Given the description of an element on the screen output the (x, y) to click on. 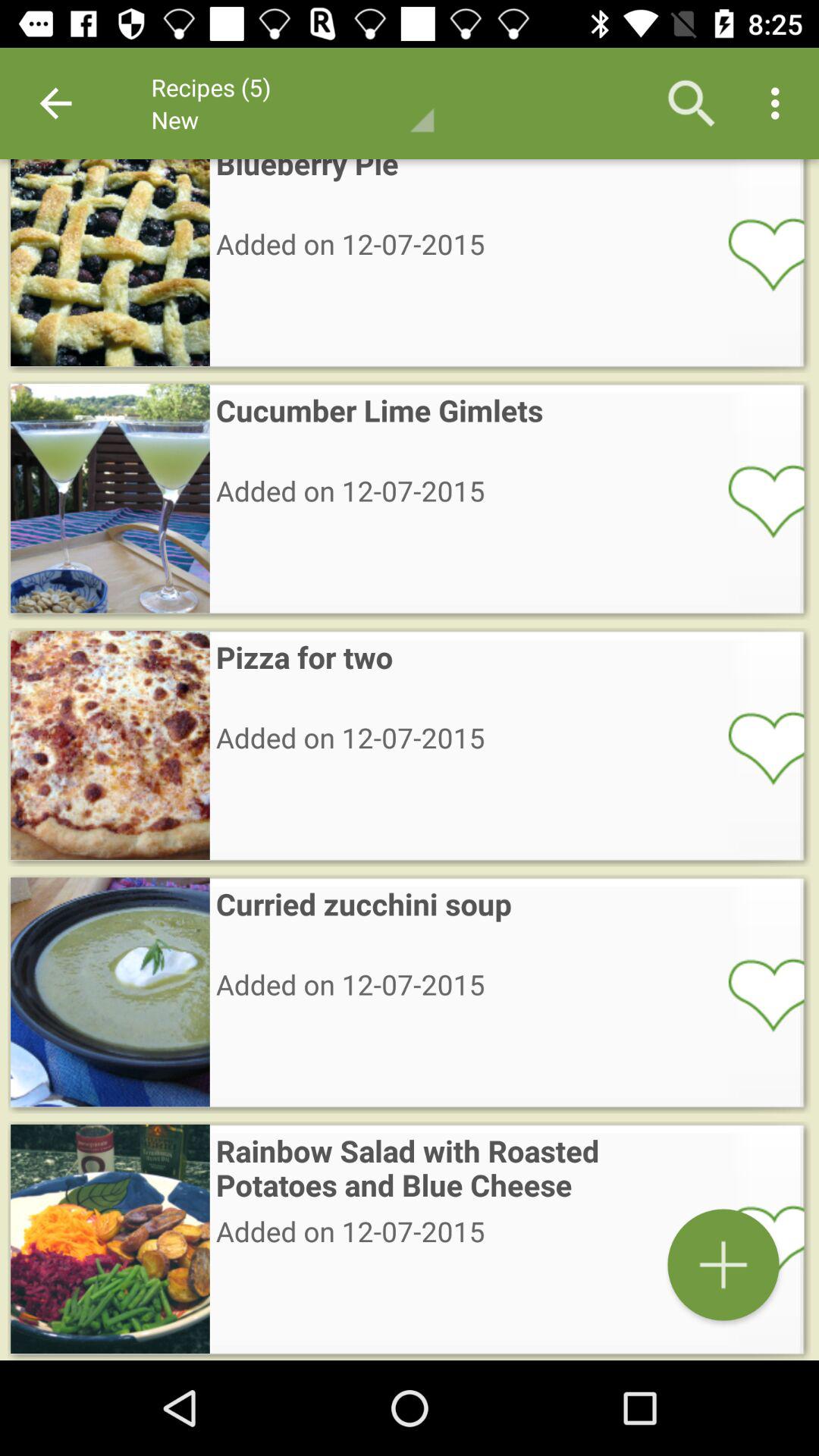
love the recipe (756, 747)
